Given the description of an element on the screen output the (x, y) to click on. 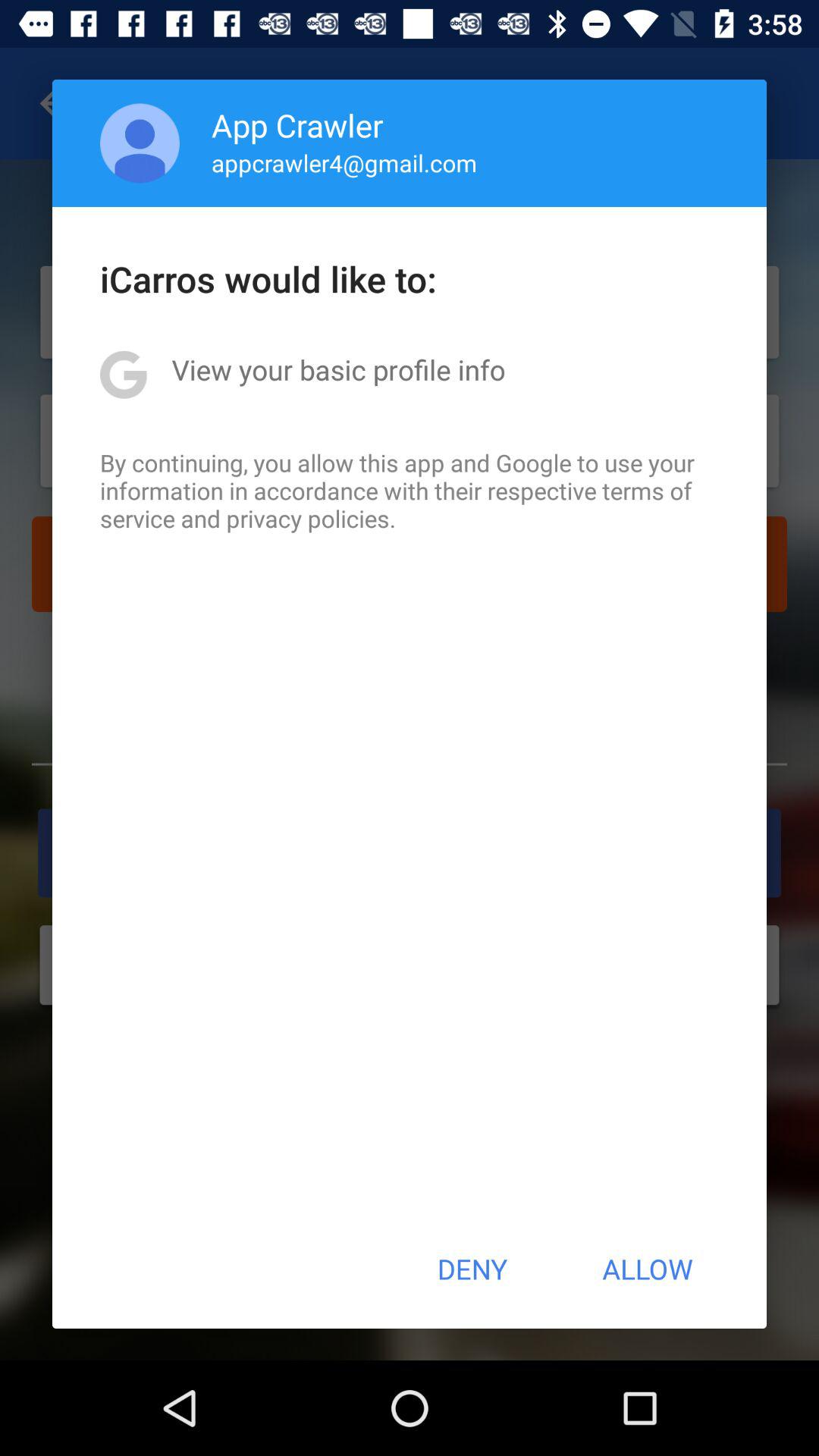
turn on the icon next to allow button (471, 1268)
